Given the description of an element on the screen output the (x, y) to click on. 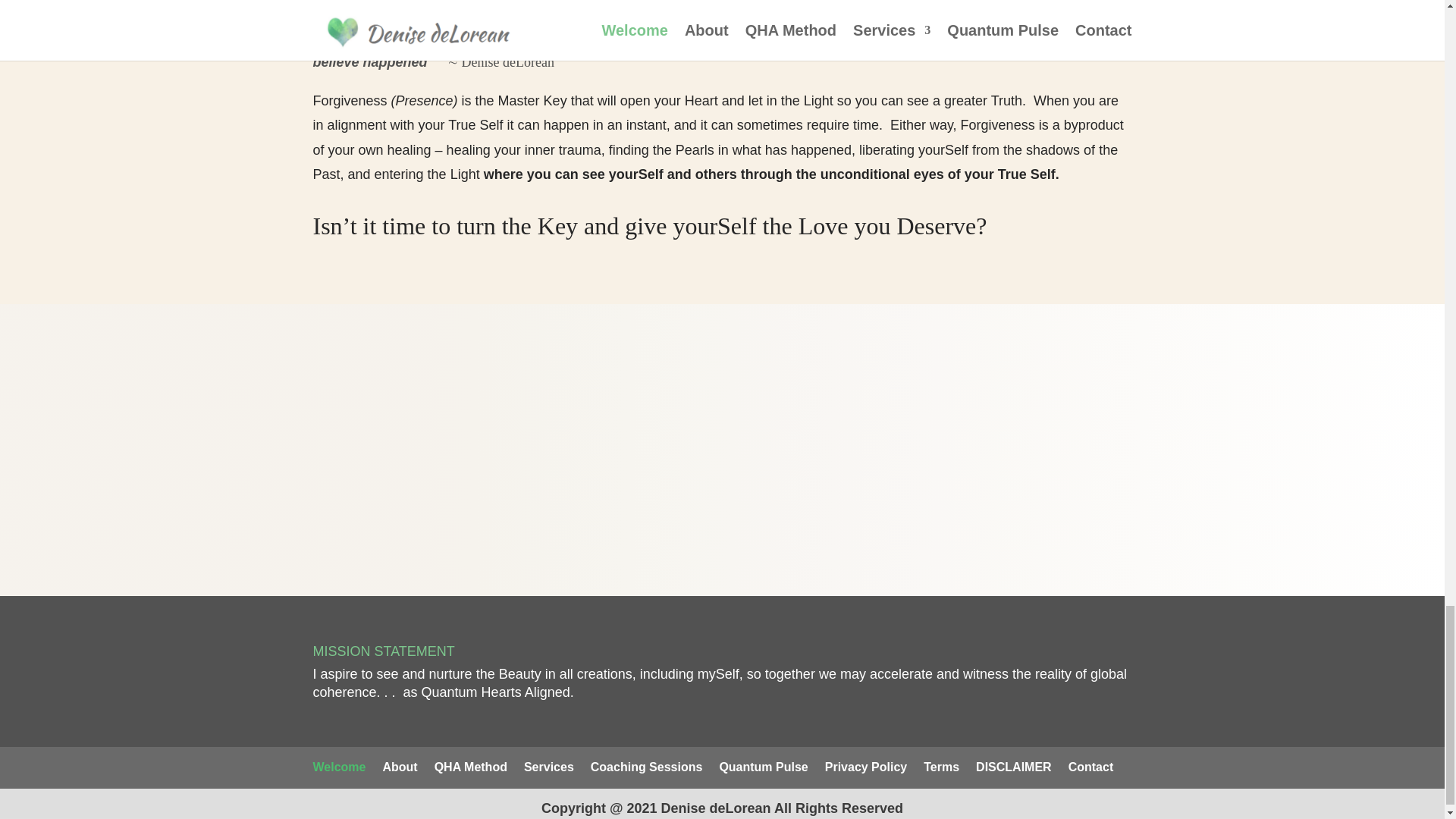
Quantum Pulse (763, 766)
Privacy Policy (866, 766)
DISCLAIMER (1013, 766)
Services (548, 766)
Contact (1090, 766)
Terms (941, 766)
Welcome (339, 766)
About (398, 766)
QHA Method (469, 766)
Coaching Sessions (647, 766)
